Given the description of an element on the screen output the (x, y) to click on. 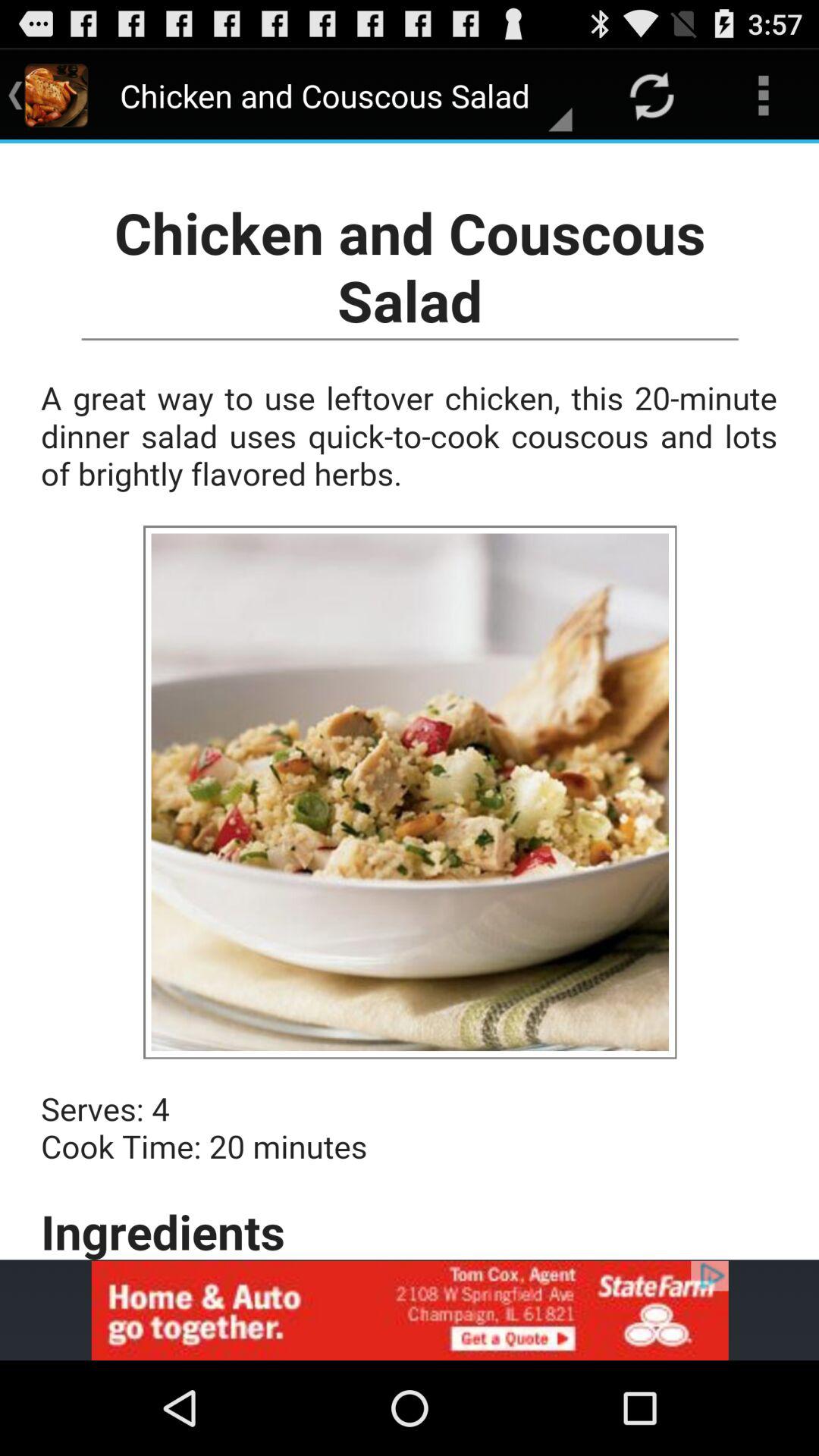
advertisement link (409, 1310)
